Given the description of an element on the screen output the (x, y) to click on. 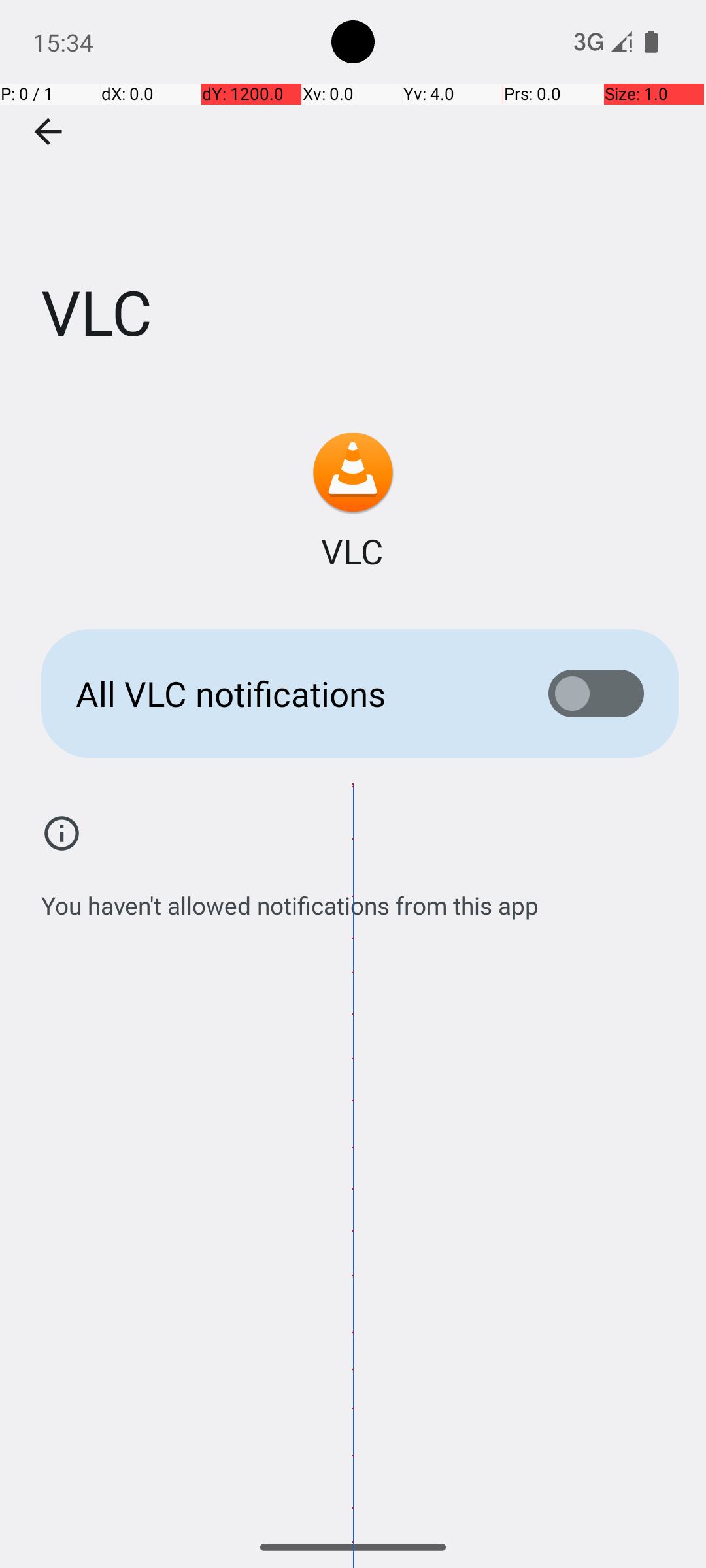
All VLC notifications Element type: android.widget.TextView (291, 693)
You haven't allowed notifications from this app Element type: android.widget.TextView (290, 898)
